Given the description of an element on the screen output the (x, y) to click on. 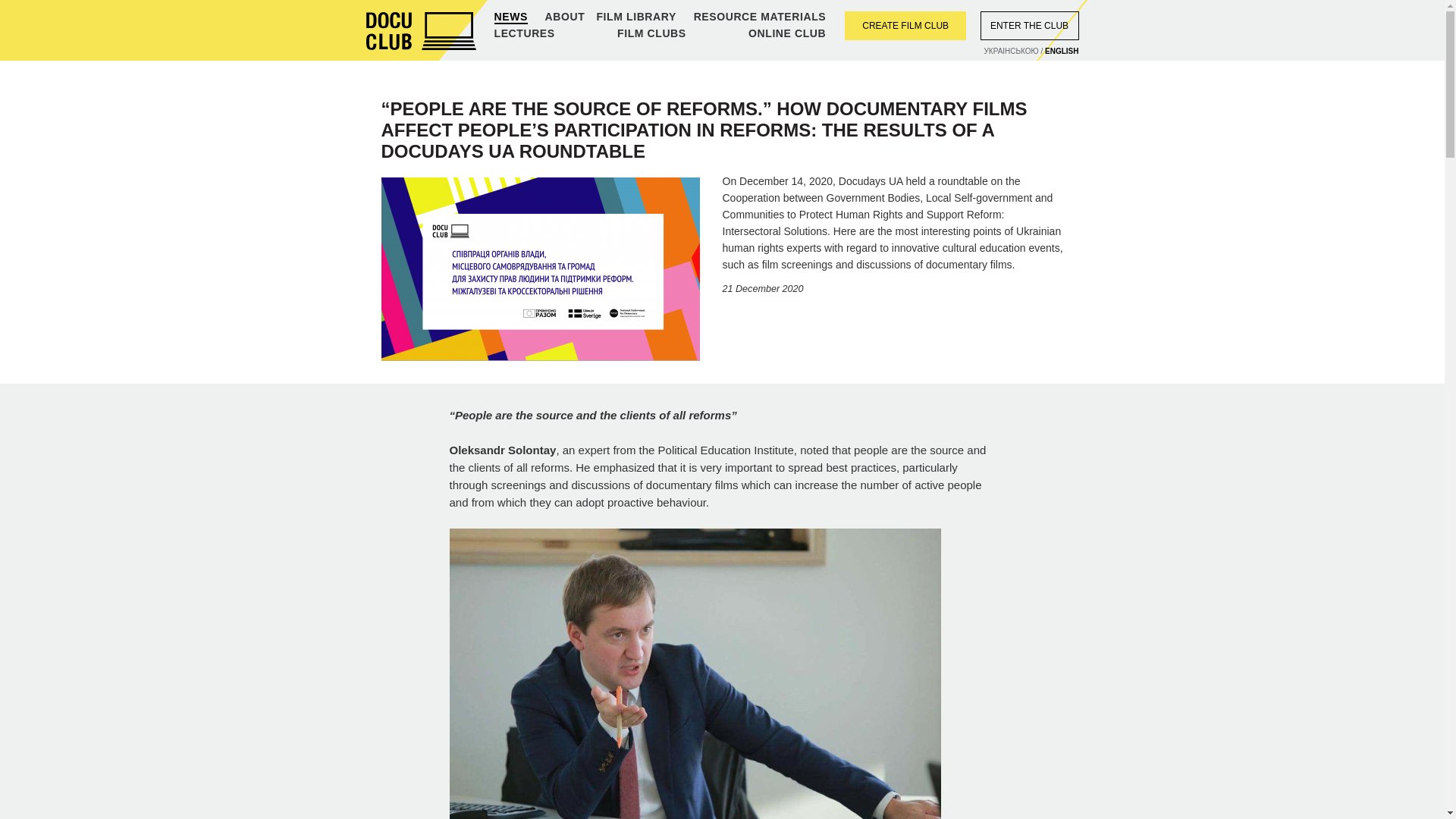
FILM LIBRARY (635, 17)
ONLINE CLUB (786, 33)
NEWS (511, 17)
ABOUT (564, 17)
FILM CLUBS (651, 33)
RESOURCE MATERIALS (760, 17)
ENGLISH (1061, 51)
ENTER THE CLUB (1028, 25)
LECTURES (524, 33)
CREATE FILM CLUB (905, 25)
